Given the description of an element on the screen output the (x, y) to click on. 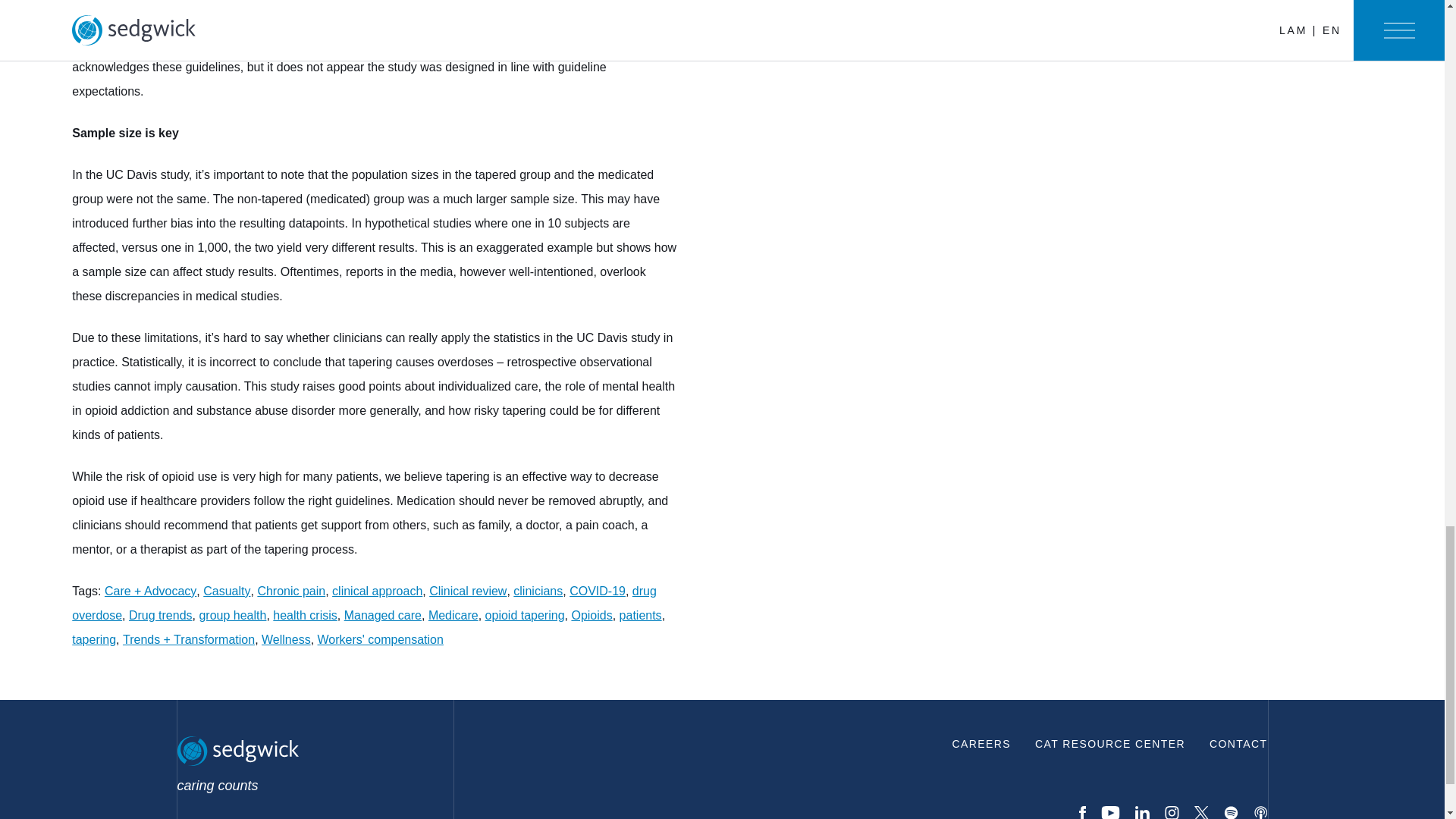
Careers (981, 742)
Contact (1238, 742)
CAT resource center (1110, 742)
